Given the description of an element on the screen output the (x, y) to click on. 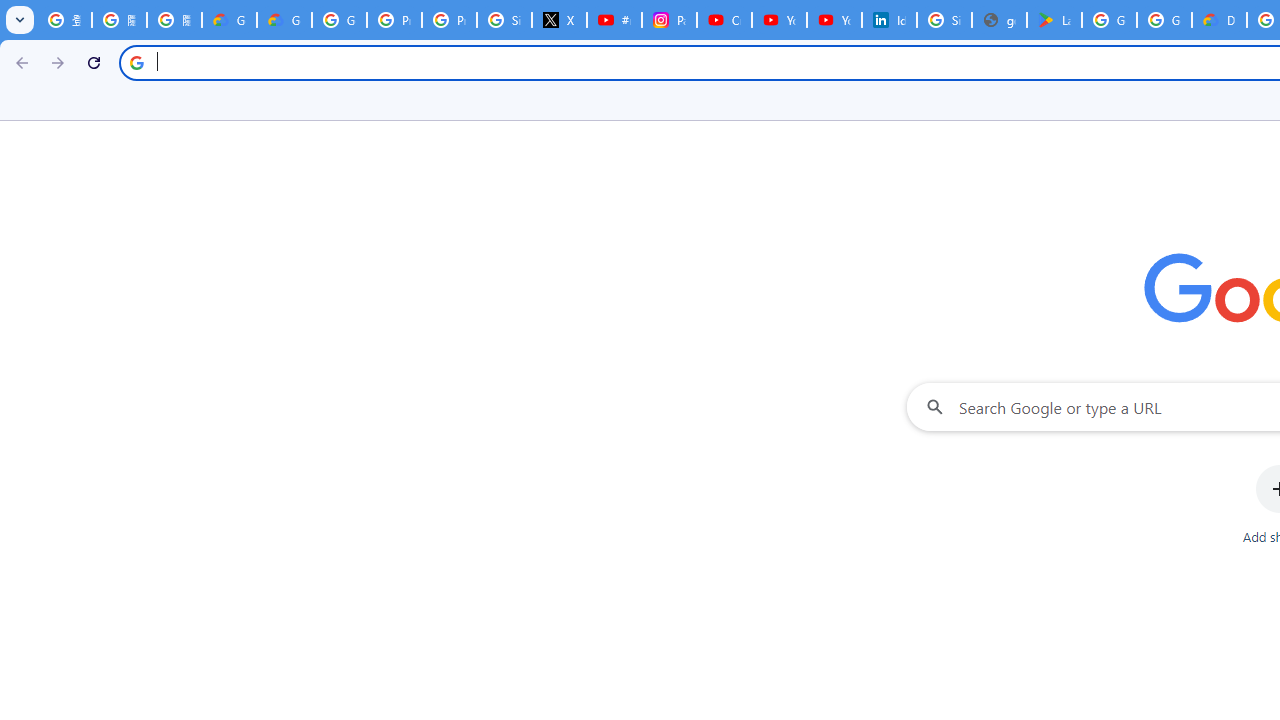
Google Cloud Privacy Notice (284, 20)
Privacy Help Center - Policies Help (449, 20)
Sign in - Google Accounts (504, 20)
Google Workspace - Specific Terms (1163, 20)
YouTube Culture & Trends - YouTube Top 10, 2021 (833, 20)
X (559, 20)
Sign in - Google Accounts (943, 20)
#nbabasketballhighlights - YouTube (614, 20)
